Given the description of an element on the screen output the (x, y) to click on. 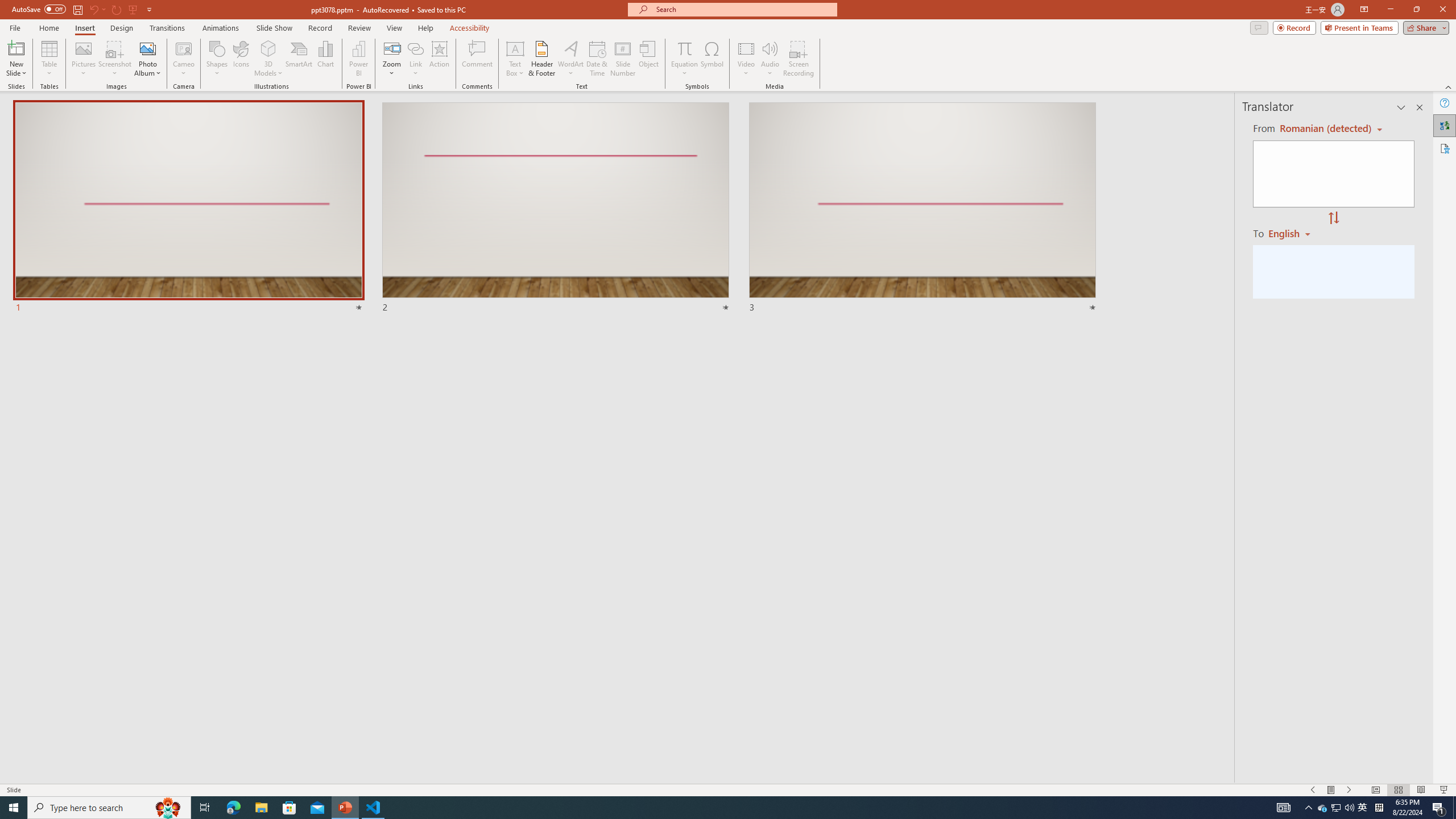
Power BI (358, 58)
Screenshot (114, 58)
WordArt (570, 58)
